Given the description of an element on the screen output the (x, y) to click on. 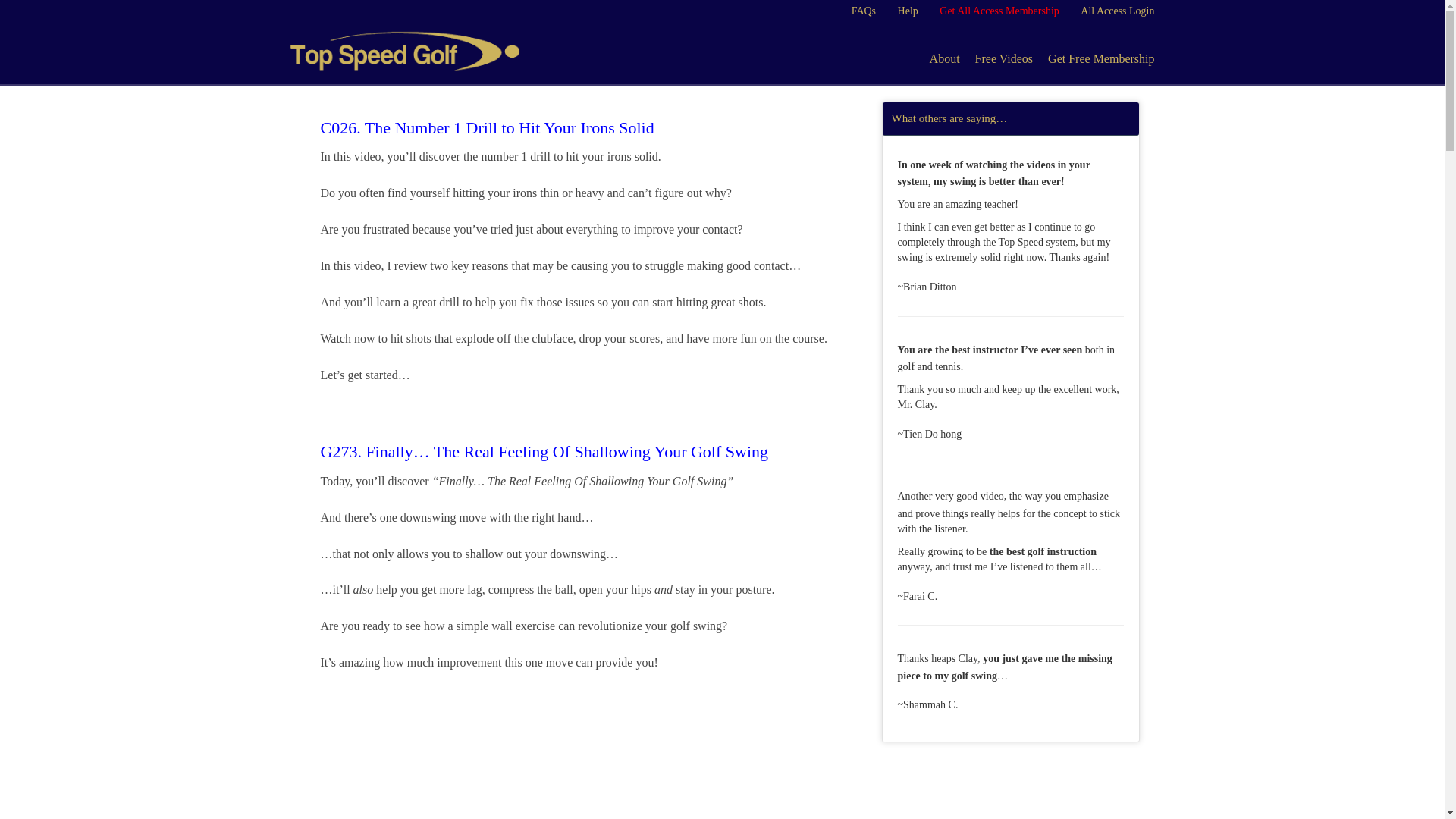
Get Free Membership (1096, 59)
Free Videos (1004, 59)
Get All Access Membership (998, 10)
C026. The Number 1 Drill to Hit Your Irons Solid (486, 127)
All Access Login (1117, 10)
FAQs (863, 10)
Opens a widget where you can find more information (1386, 792)
About (944, 59)
Help (908, 10)
